Given the description of an element on the screen output the (x, y) to click on. 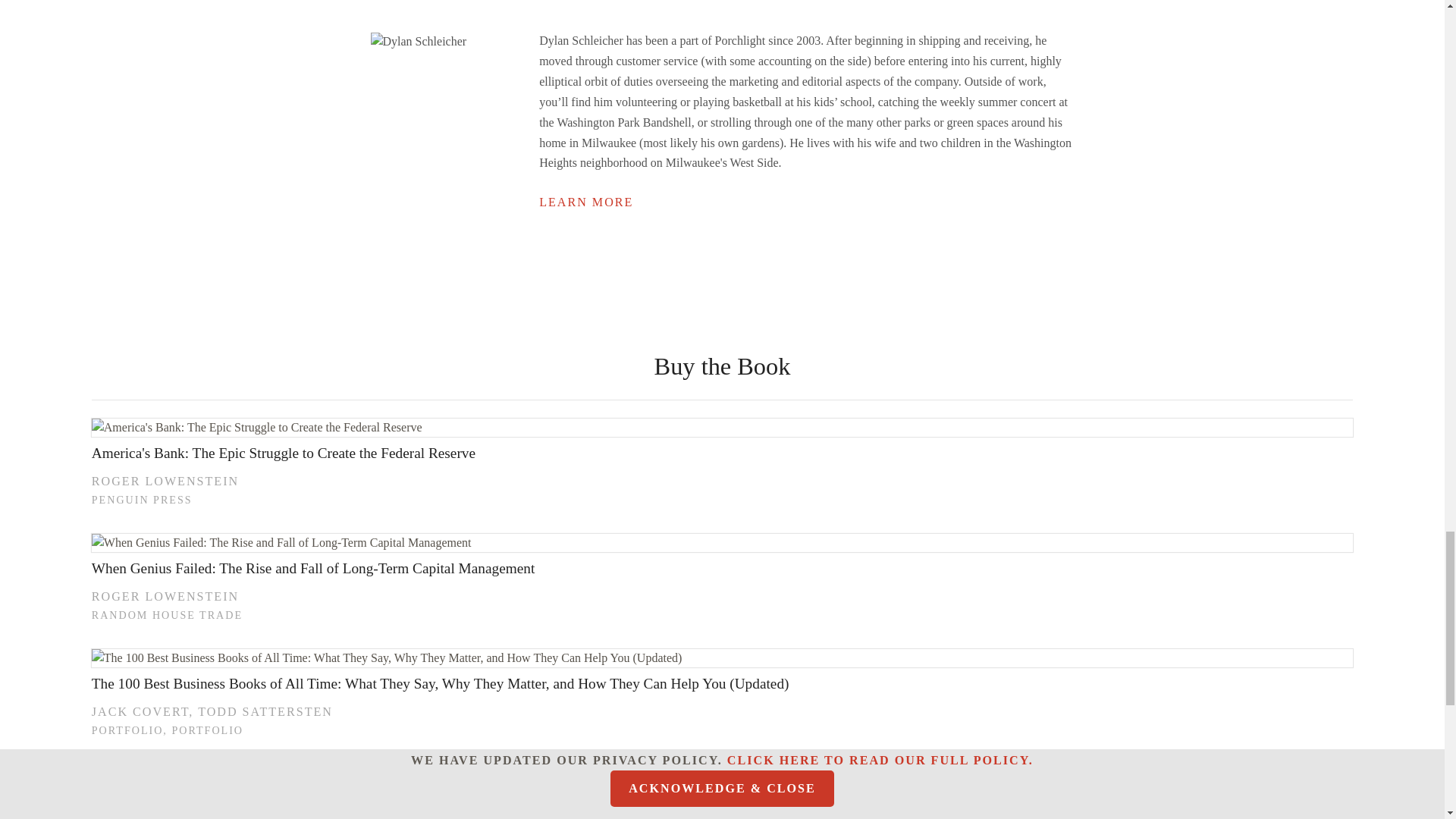
The End of Wall Street (721, 772)
Dylan Schleicher (417, 41)
